Given the description of an element on the screen output the (x, y) to click on. 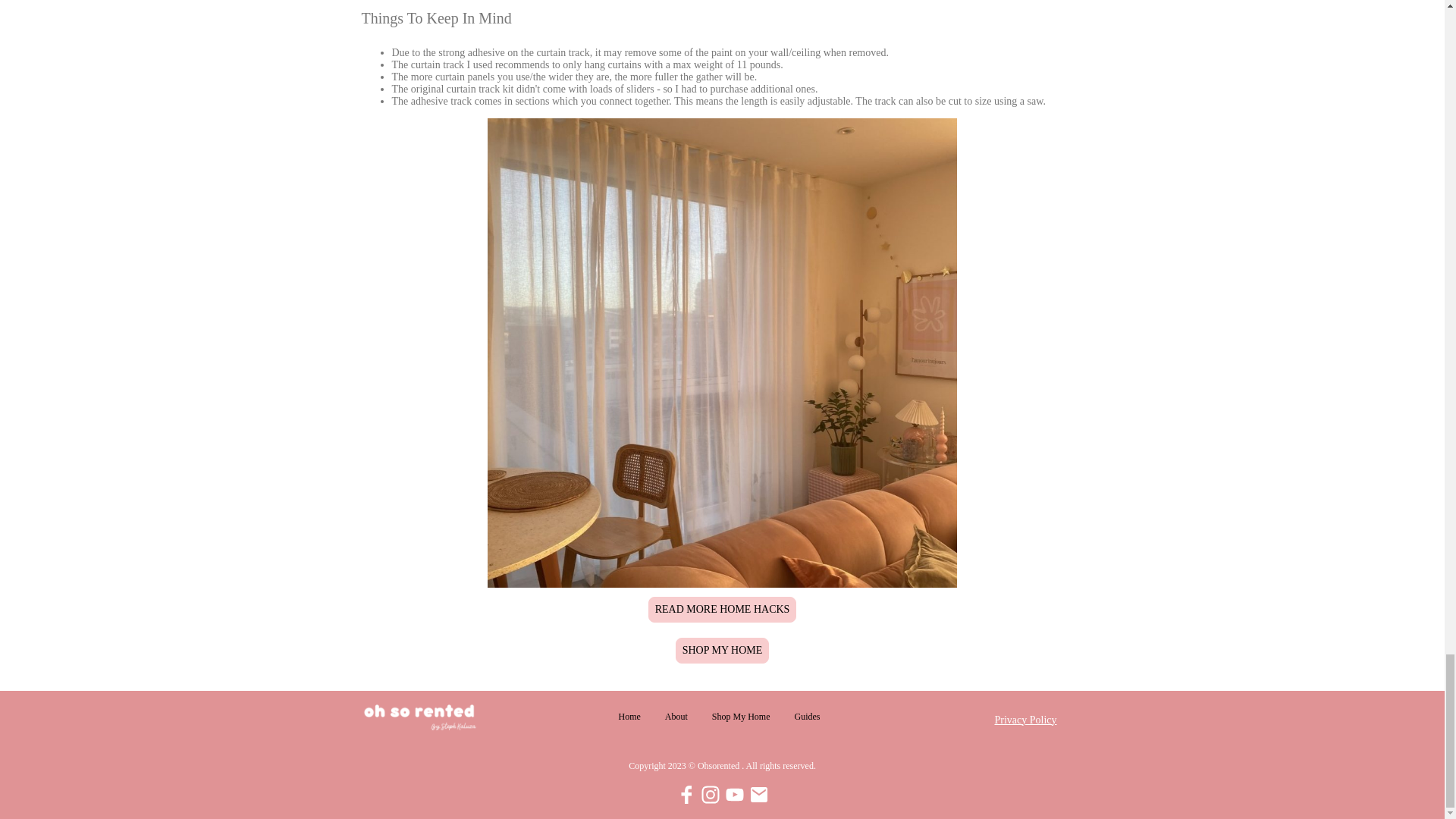
SHOP MY HOME (722, 650)
Shop My Home (740, 716)
About (676, 716)
READ MORE HOME HACKS (721, 609)
Guides (807, 716)
Home (629, 716)
Privacy Policy (1025, 719)
